Given the description of an element on the screen output the (x, y) to click on. 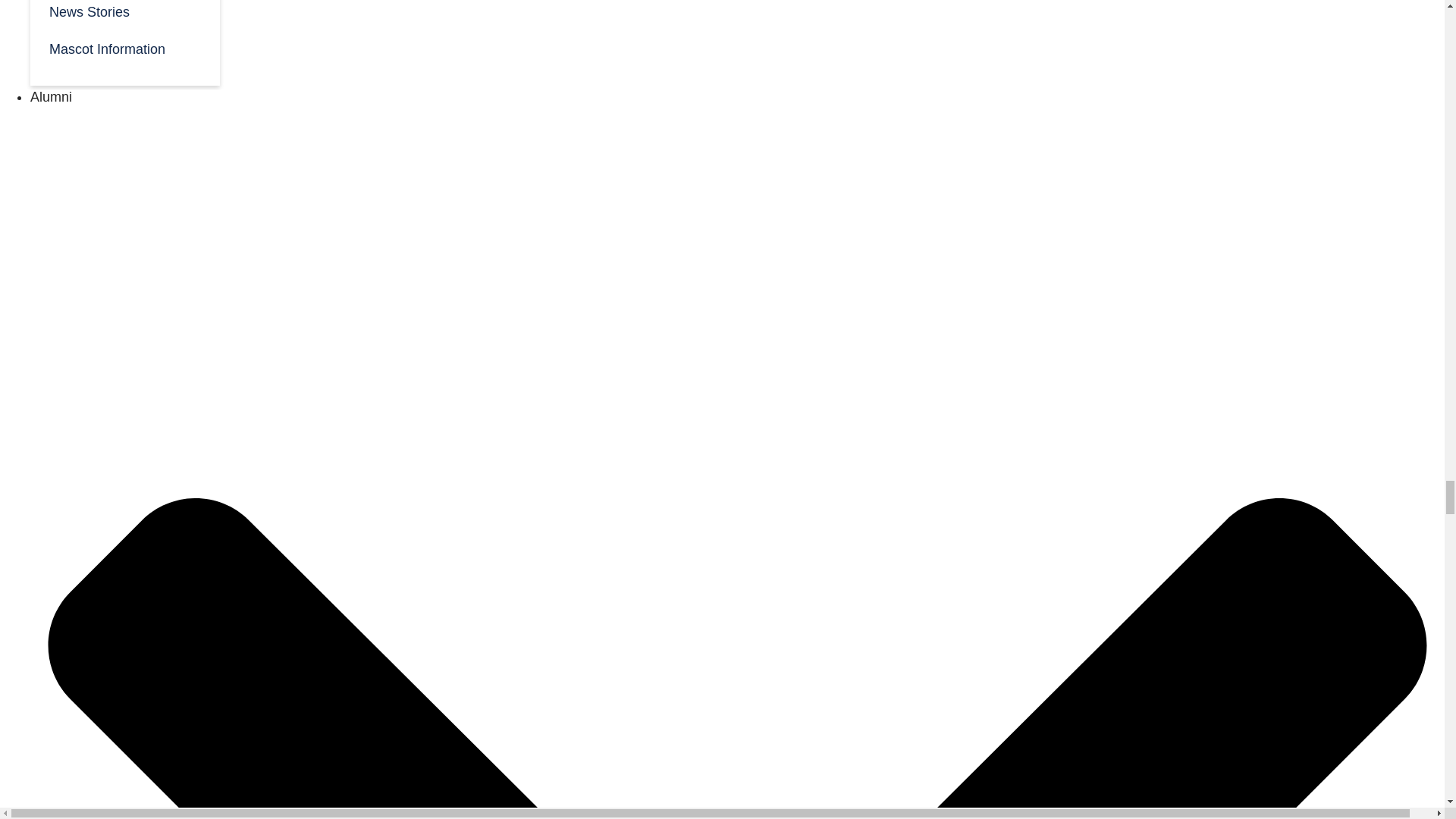
Mascot Information (125, 47)
News Stories (125, 14)
Alumni (50, 96)
